Given the description of an element on the screen output the (x, y) to click on. 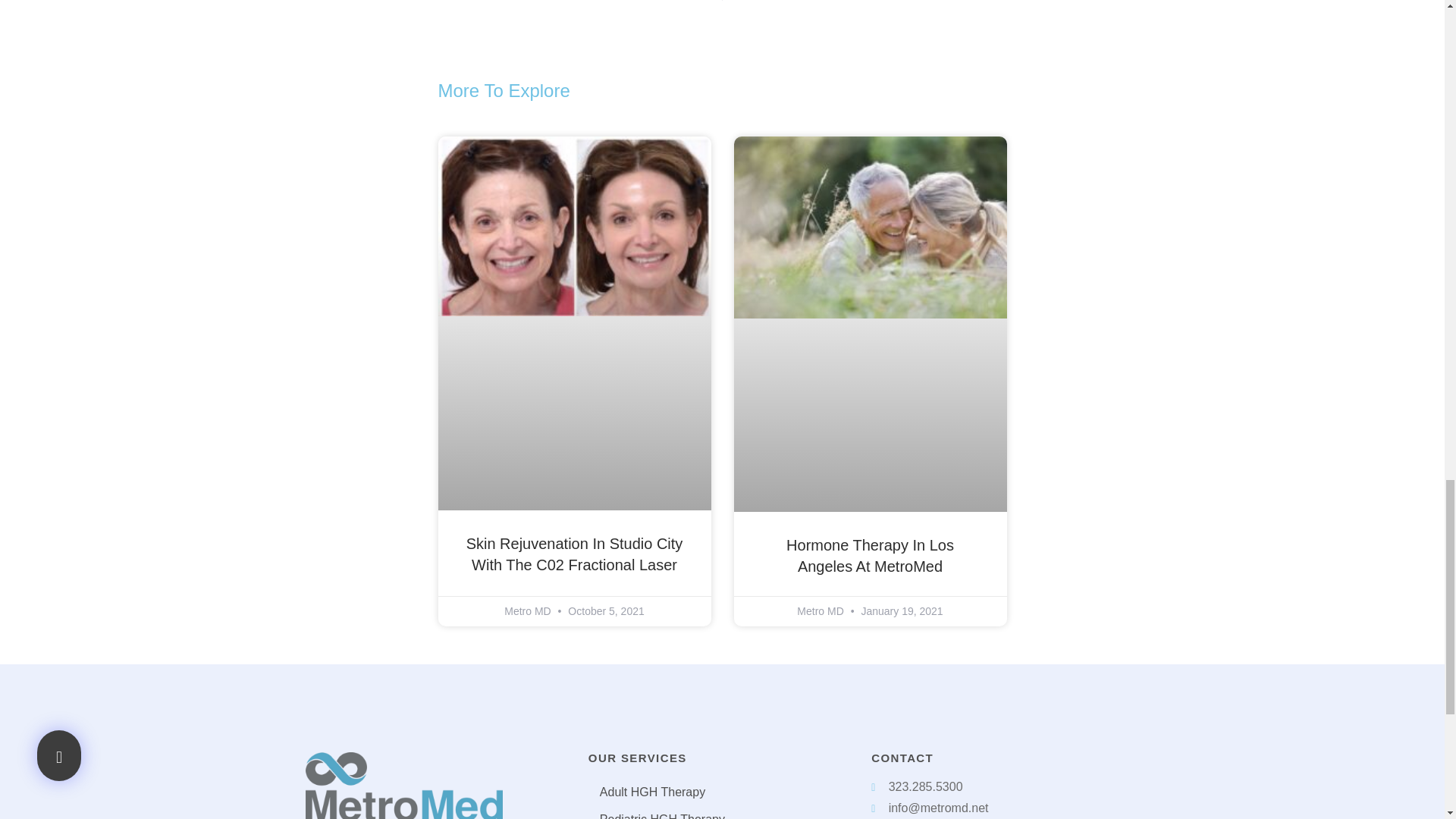
Adult HGH Therapy (722, 791)
Hormone Therapy In Los Angeles At MetroMed (869, 555)
Pediatric HGH Therapy (722, 812)
